Given the description of an element on the screen output the (x, y) to click on. 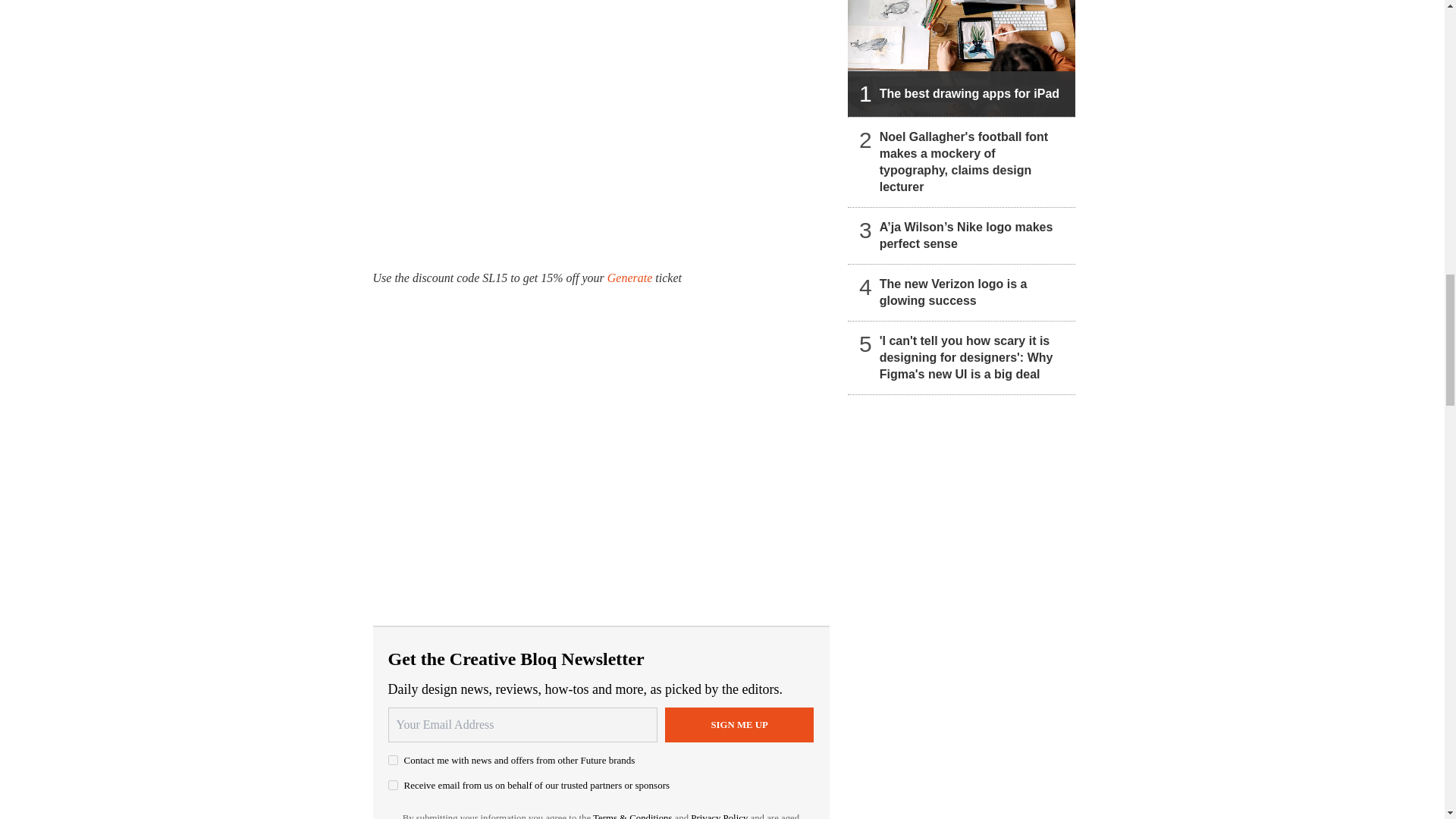
on (392, 759)
on (392, 785)
Sign me up (739, 724)
